Given the description of an element on the screen output the (x, y) to click on. 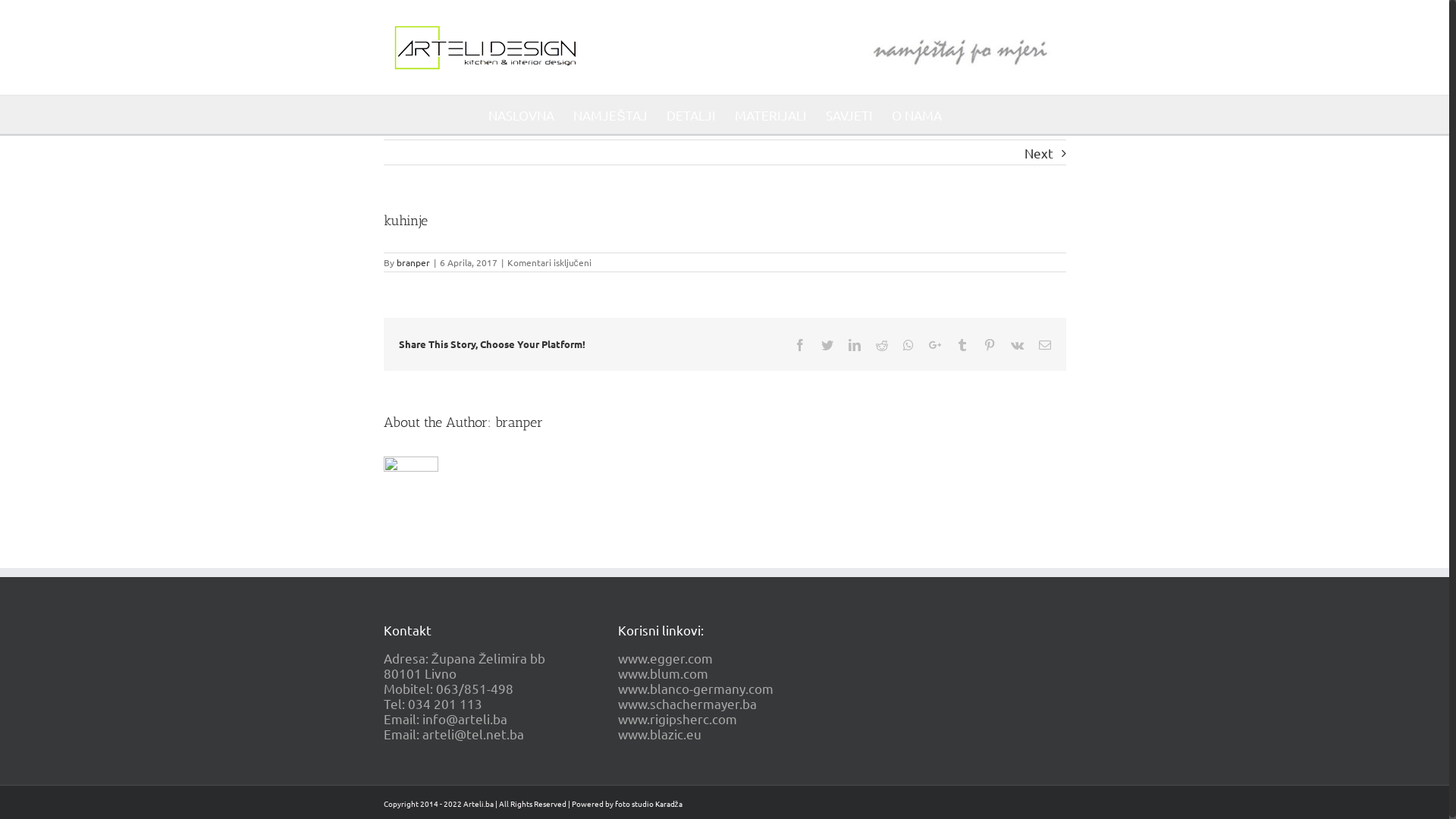
LinkedIn Element type: text (853, 344)
Whatsapp Element type: text (907, 344)
www.blazic.eu Element type: text (659, 733)
branper Element type: text (518, 422)
Reddit Element type: text (881, 344)
Email Element type: text (1044, 344)
www.blum.com Element type: text (663, 672)
branper Element type: text (412, 262)
MATERIJALI Element type: text (770, 114)
www.rigipsherc.com Element type: text (677, 718)
Pinterest Element type: text (988, 344)
O NAMA Element type: text (916, 114)
Twitter Element type: text (826, 344)
Vk Element type: text (1016, 344)
www.egger.com Element type: text (665, 657)
Facebook Element type: text (799, 344)
www.schachermayer.ba Element type: text (687, 703)
Next Element type: text (1037, 153)
SAVJETI Element type: text (848, 114)
NASLOVNA Element type: text (521, 114)
Tumblr Element type: text (961, 344)
www.blanco-germany.com Element type: text (695, 688)
DETALJI Element type: text (690, 114)
Google+ Element type: text (934, 344)
